Given the description of an element on the screen output the (x, y) to click on. 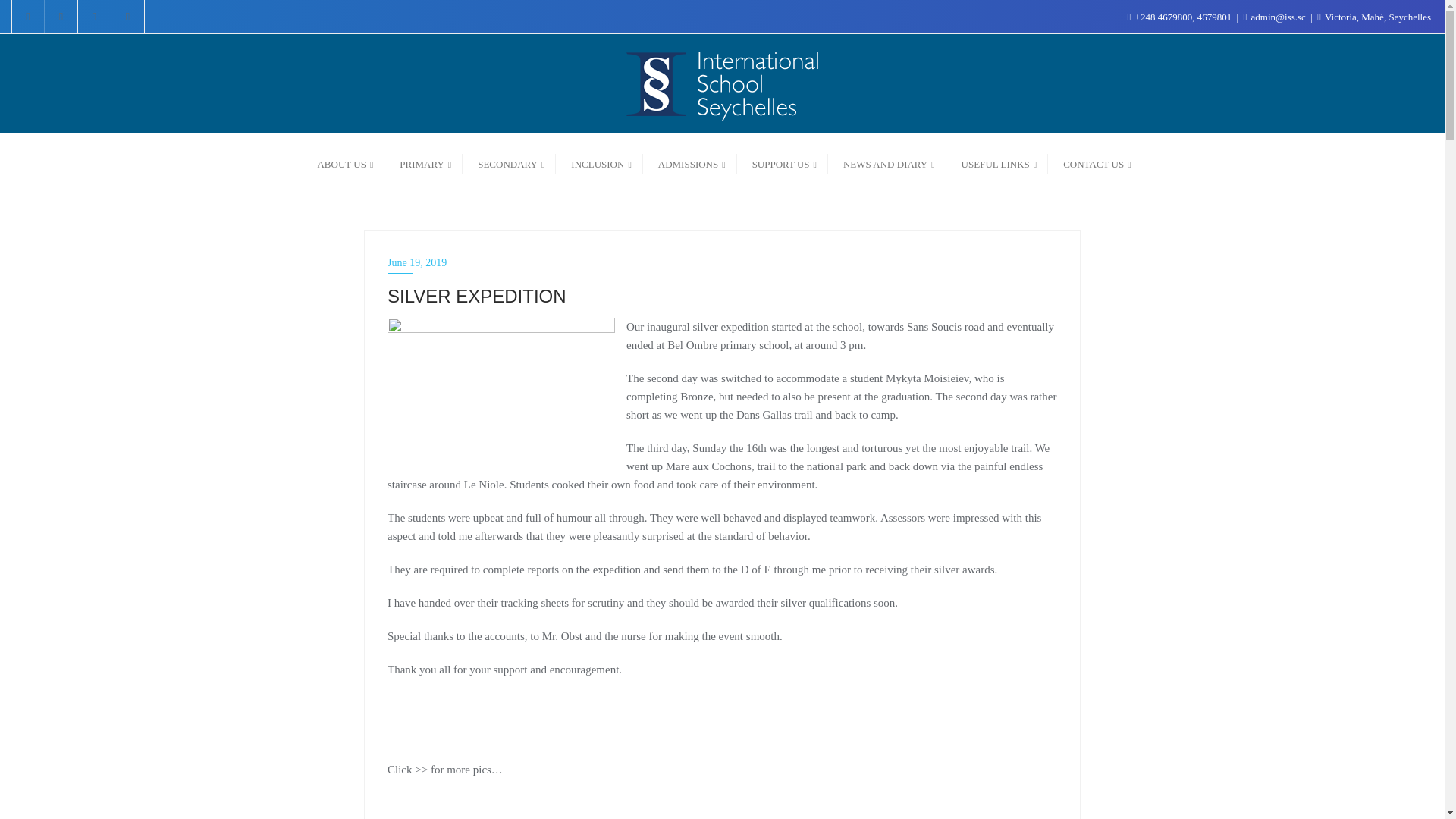
SECONDARY (509, 162)
PRIMARY (423, 162)
ABOUT US (342, 162)
